Given the description of an element on the screen output the (x, y) to click on. 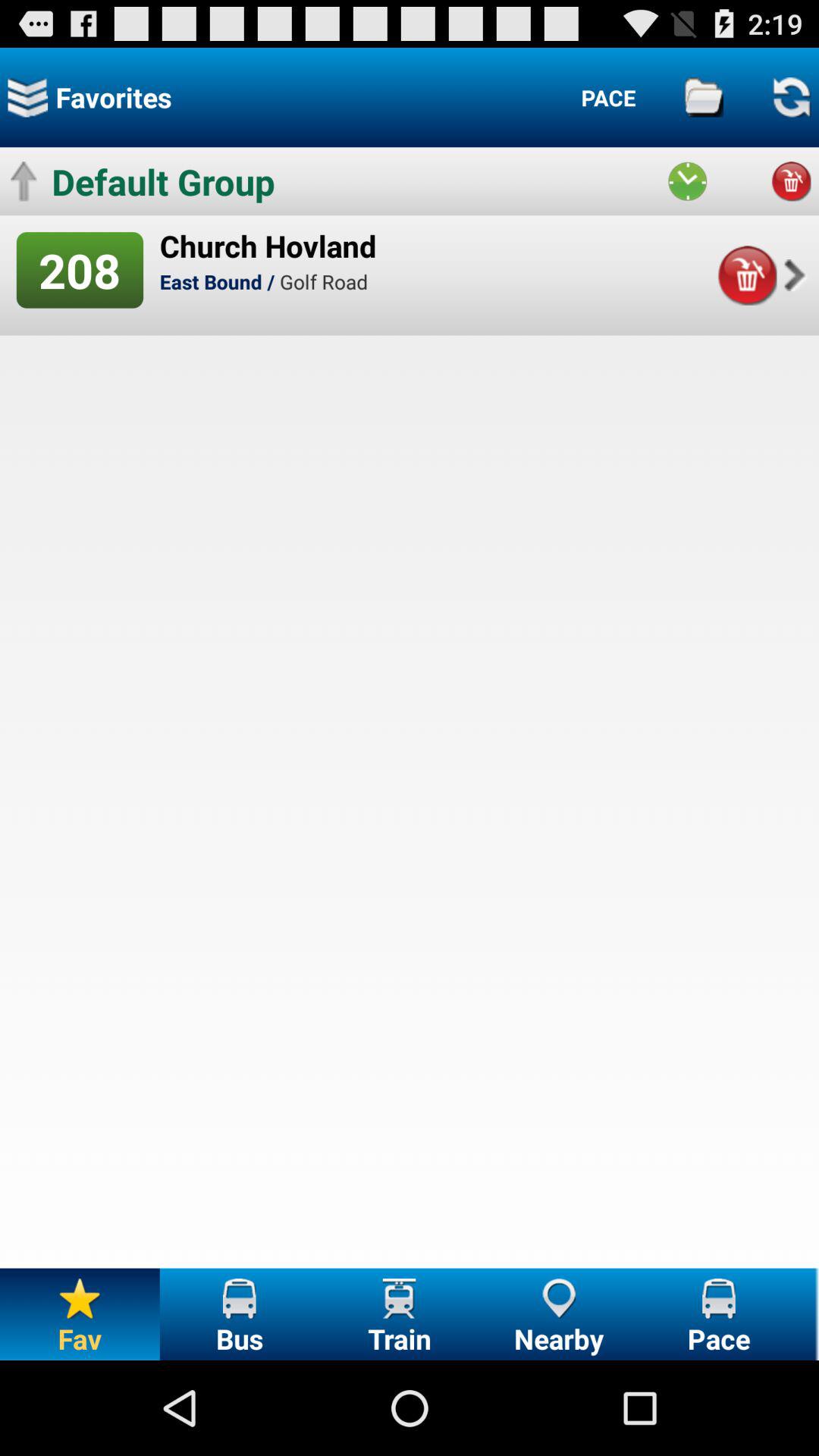
folders and files (703, 97)
